Given the description of an element on the screen output the (x, y) to click on. 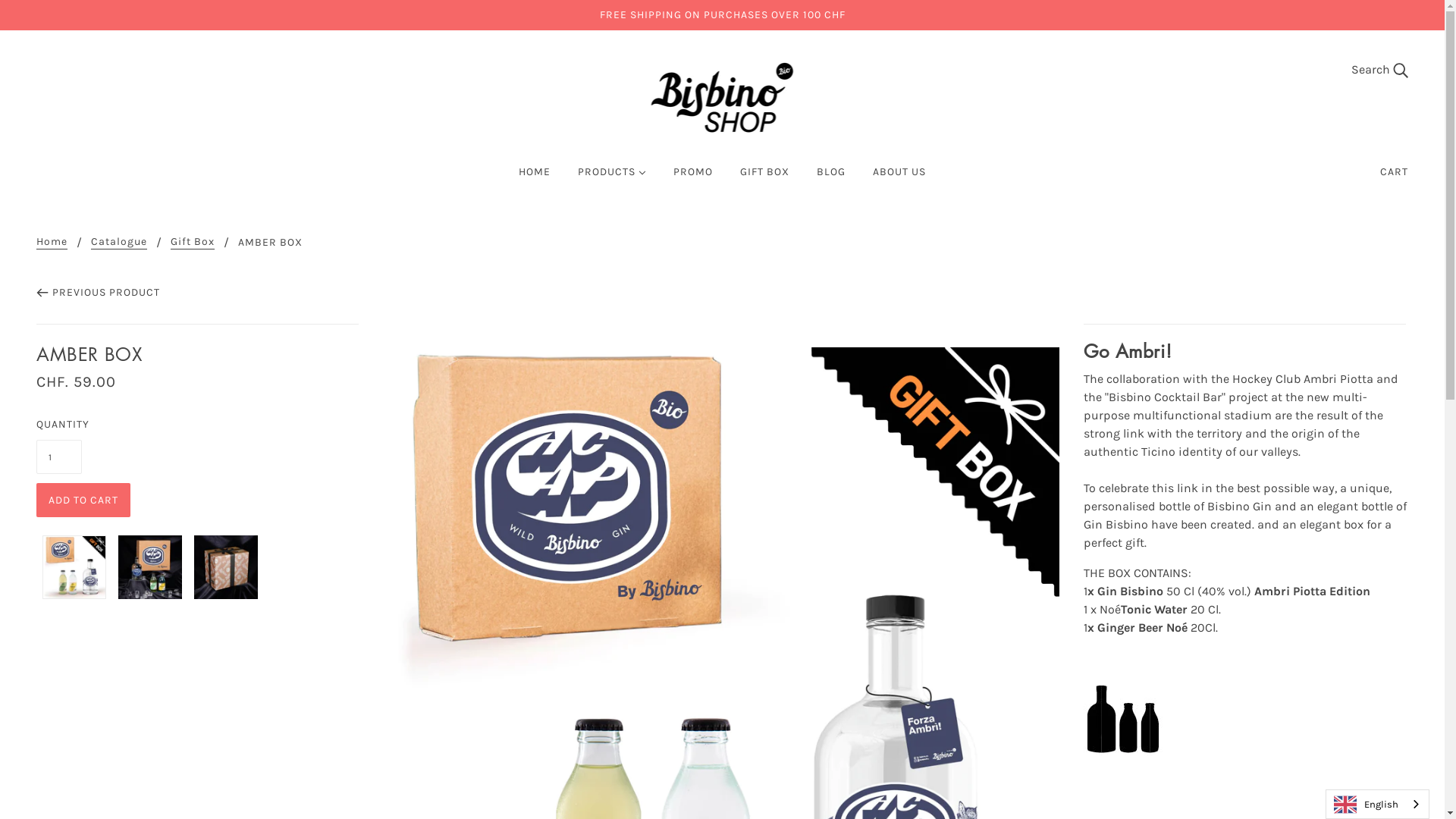
HOME Element type: text (534, 177)
English Element type: text (1377, 804)
ABOUT US Element type: text (899, 177)
GIFT BOX Element type: text (764, 177)
Search Element type: text (1379, 69)
Catalogue Element type: text (119, 242)
PROMO Element type: text (692, 177)
BLOG Element type: text (830, 177)
ADD TO CART Element type: text (83, 500)
Bisbino Shop Element type: hover (722, 97)
CART Element type: text (1394, 171)
Gift Box Element type: text (192, 242)
PREVIOUS PRODUCT Element type: text (98, 292)
Home Element type: text (51, 242)
PRODUCTS Element type: text (611, 177)
